Given the description of an element on the screen output the (x, y) to click on. 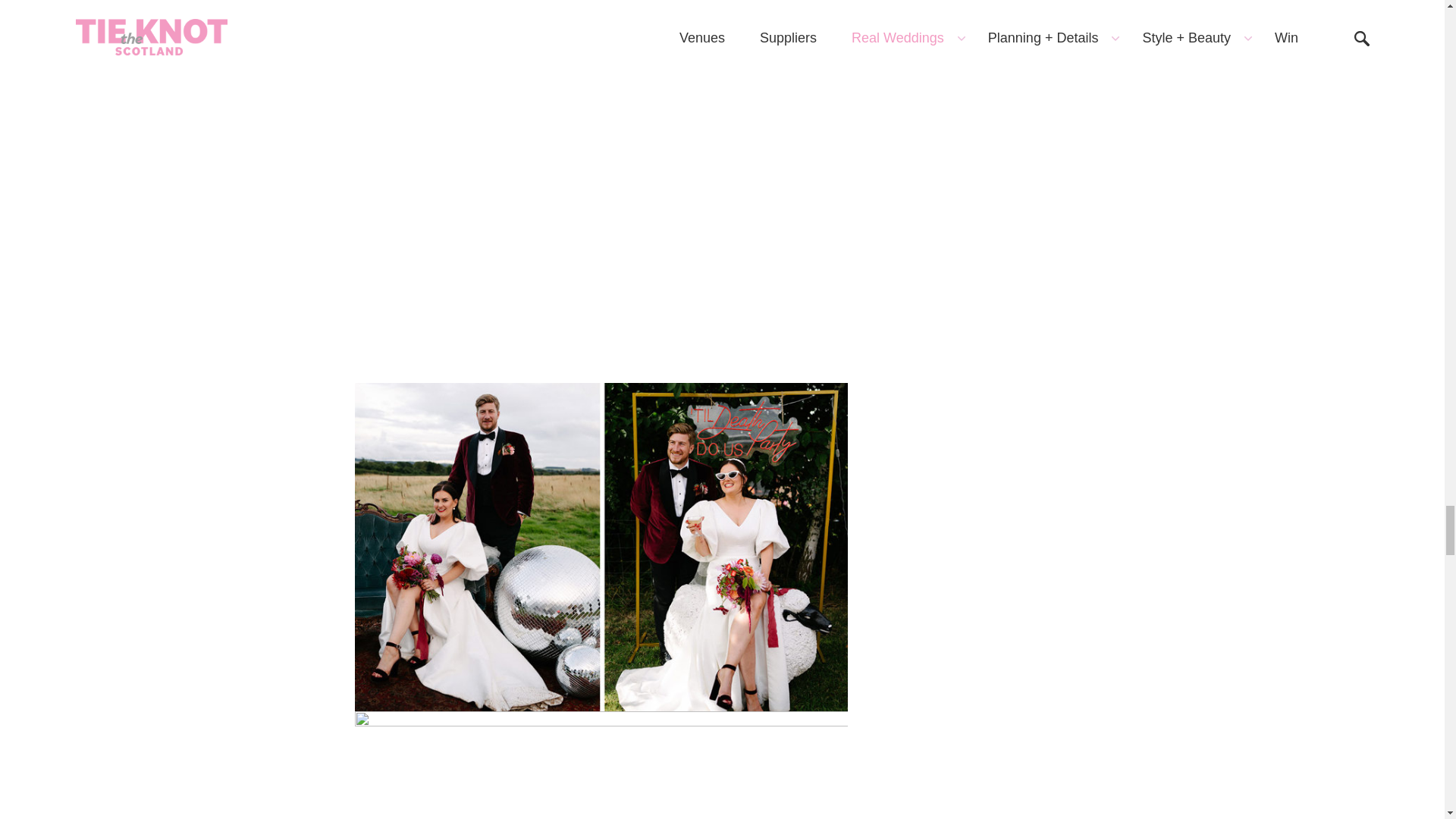
Pin It (601, 27)
Pin It (601, 765)
